Given the description of an element on the screen output the (x, y) to click on. 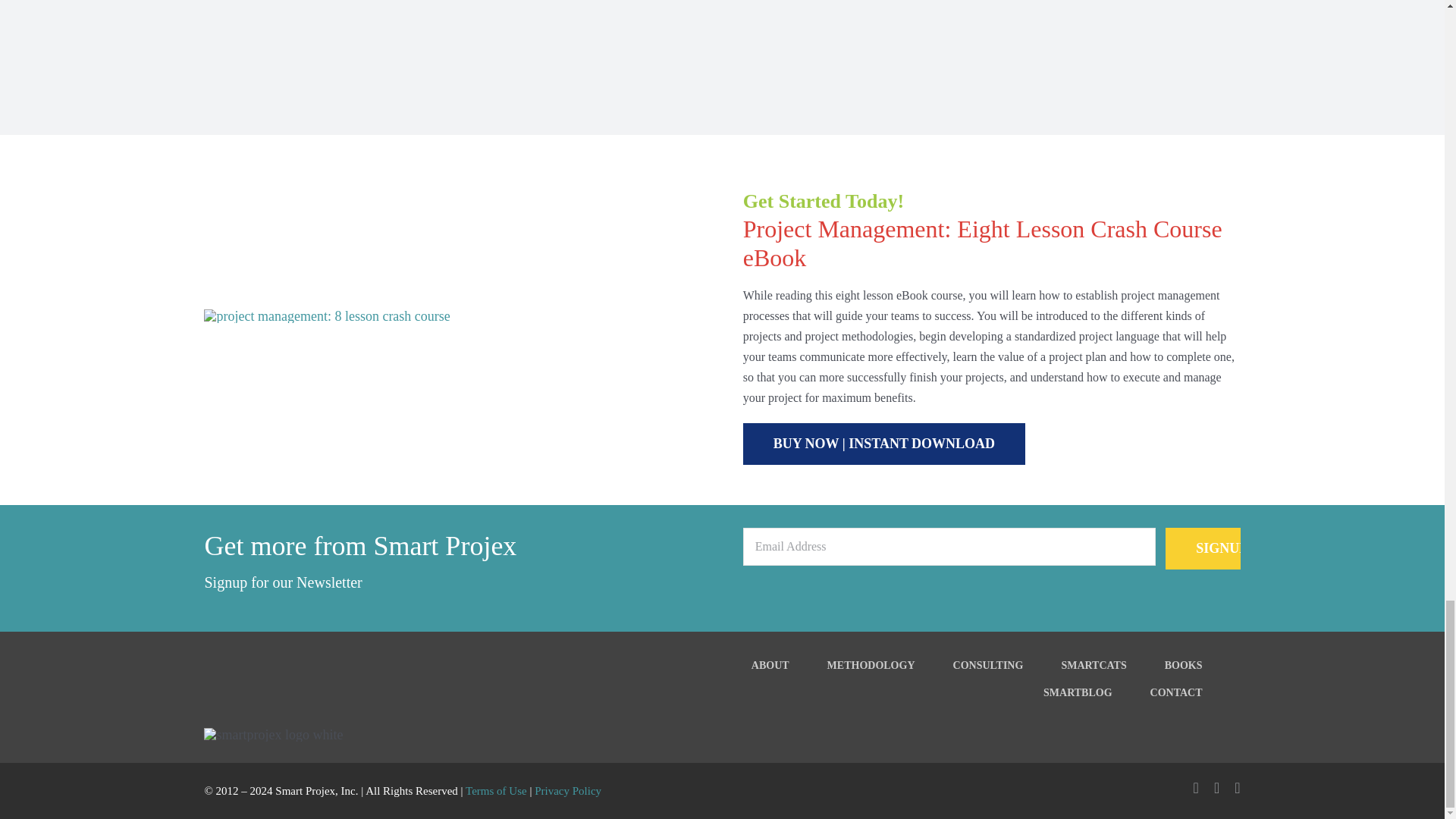
ABOUT (789, 665)
BOOKS (1202, 665)
Signup (1203, 548)
CONSULTING (1007, 665)
Privacy Policy (567, 790)
Signup (1203, 548)
METHODOLOGY (890, 665)
Terms of Use (496, 790)
SMARTCATS (1112, 665)
SMARTBLOG (1096, 692)
